Given the description of an element on the screen output the (x, y) to click on. 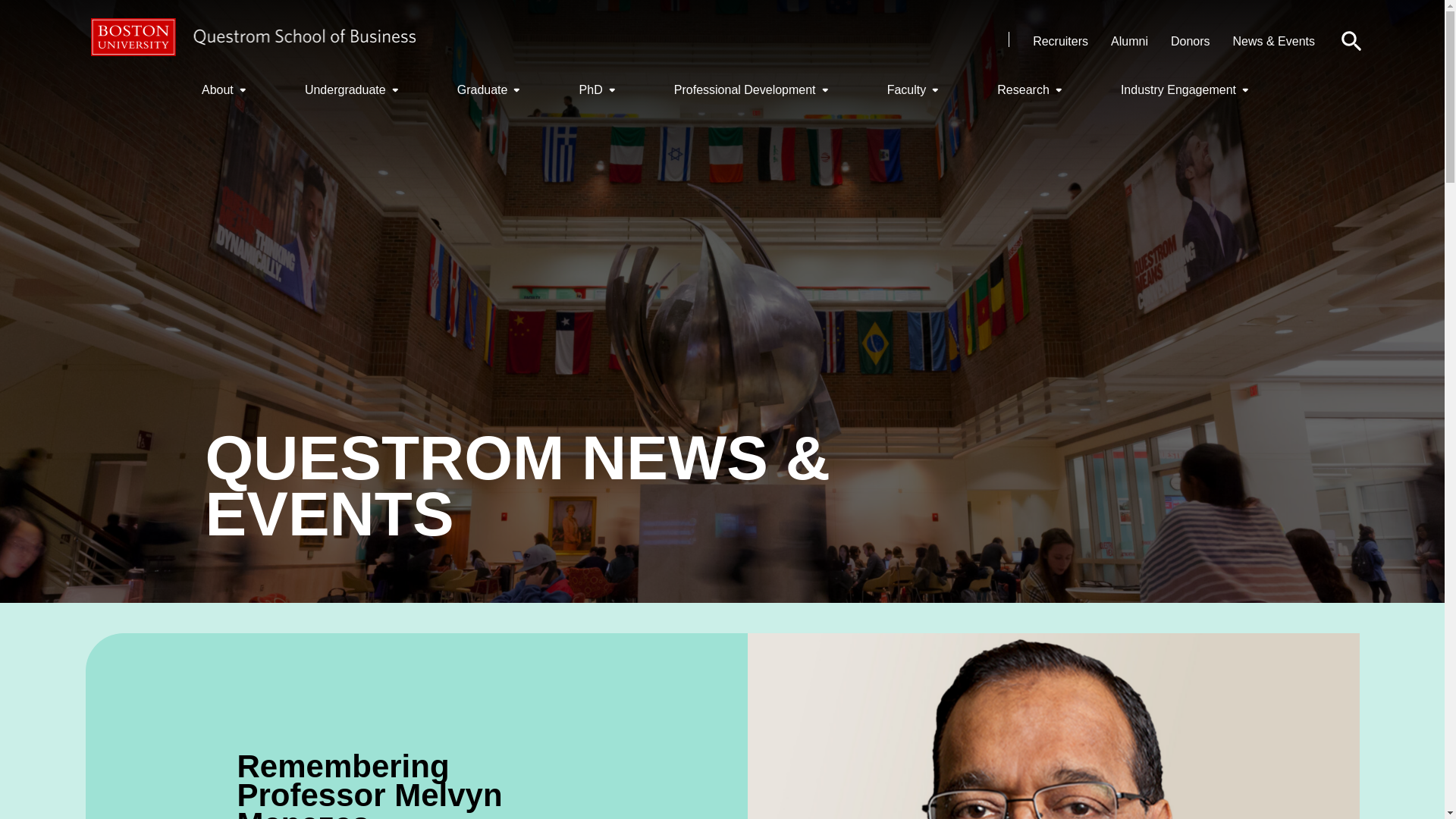
About (226, 90)
Alumni (1129, 41)
Undergraduate (354, 90)
Search (1351, 40)
Donors (1189, 41)
Recruiters (1059, 41)
Graduate (491, 90)
